Given the description of an element on the screen output the (x, y) to click on. 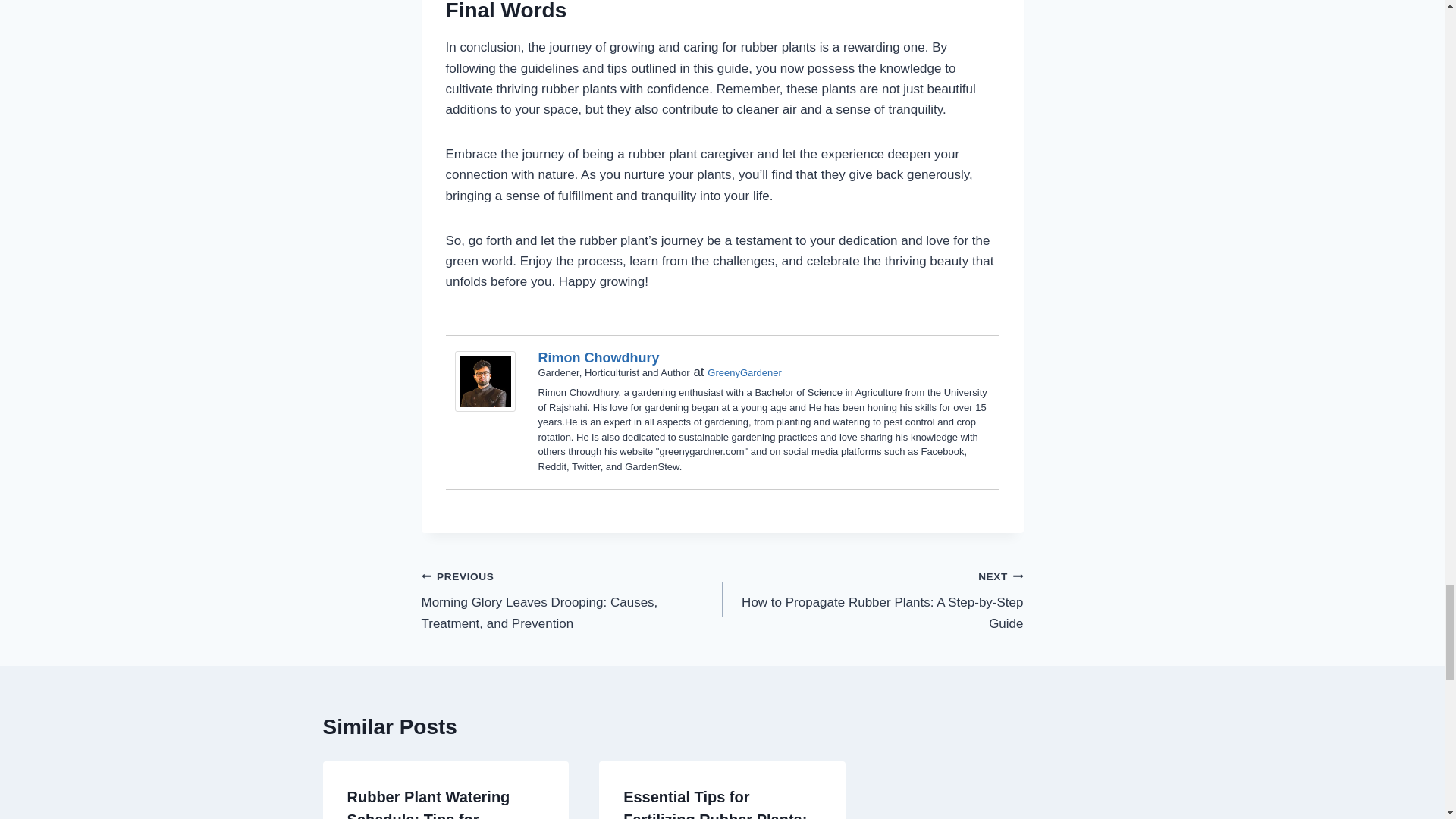
Rimon Chowdhury (488, 381)
Rubber Plant Watering Schedule: Tips for Properly Watering (429, 803)
GreenyGardener (744, 372)
Rimon Chowdhury (598, 357)
